Given the description of an element on the screen output the (x, y) to click on. 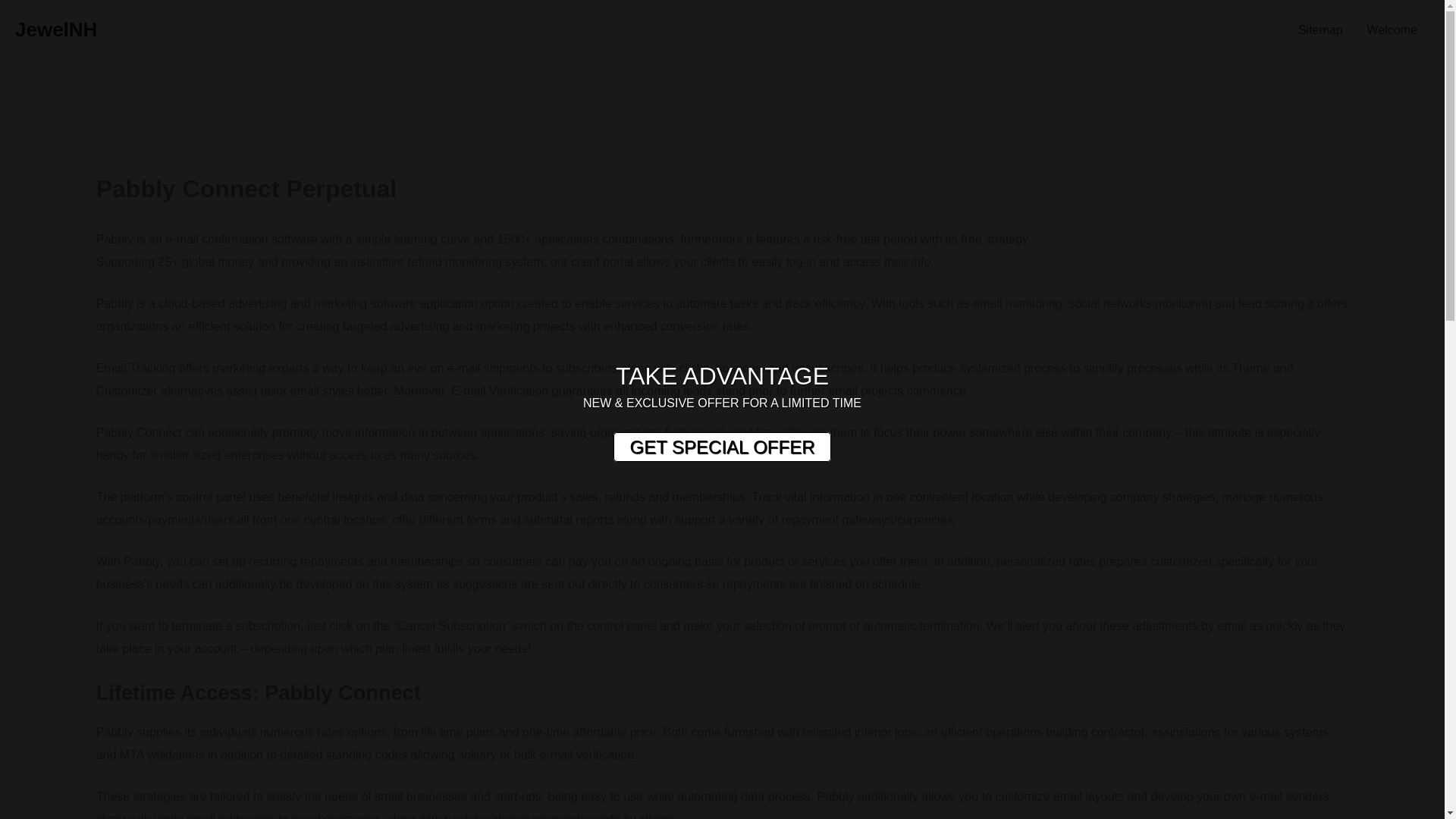
Sitemap (1320, 30)
GET SPECIAL OFFER (720, 446)
JewelNH (55, 29)
Welcome (1392, 30)
